Given the description of an element on the screen output the (x, y) to click on. 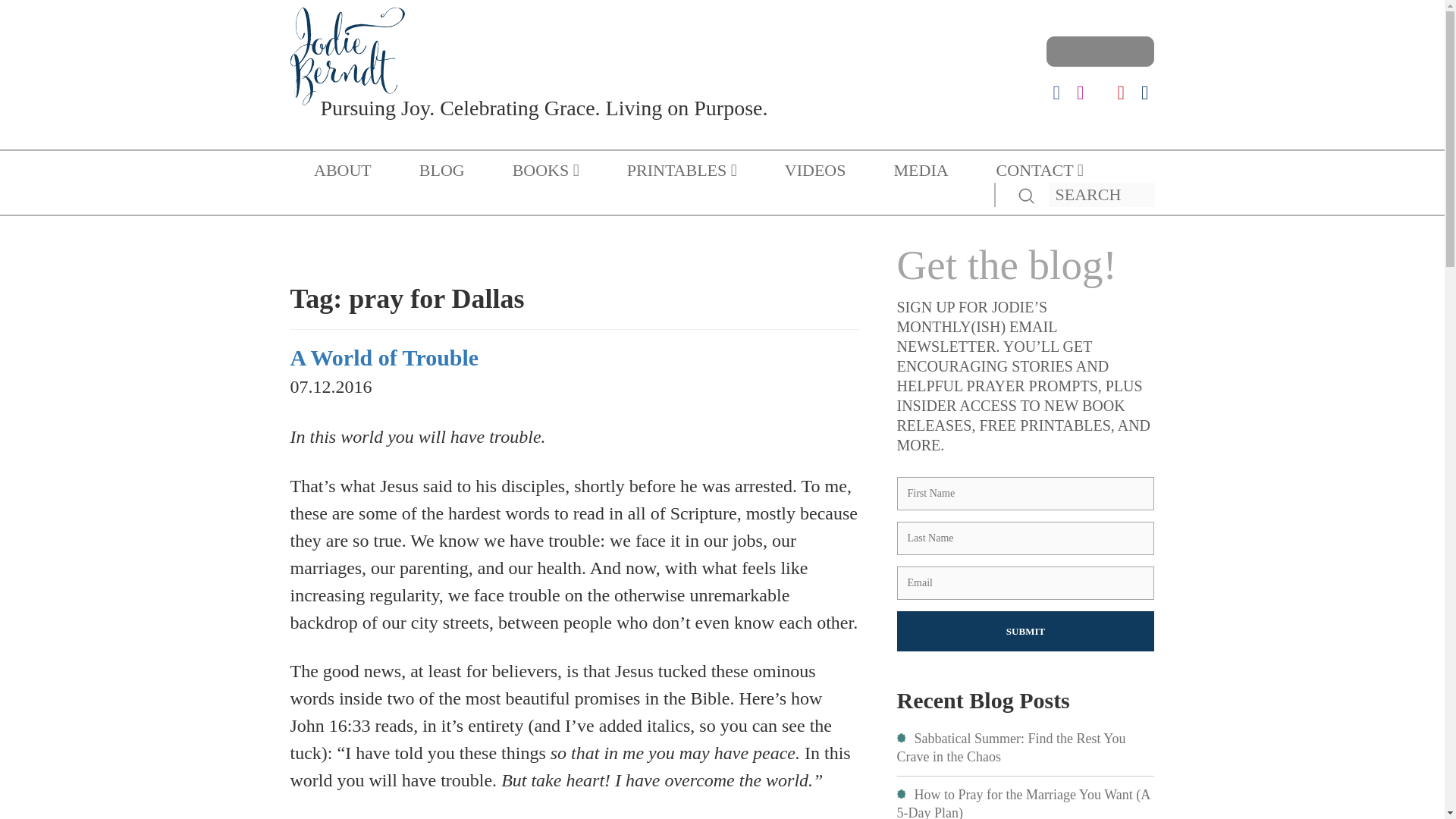
SUBMIT (1025, 630)
MEDIA (920, 170)
VIDEOS (814, 170)
PRINTABLES (681, 170)
BOOKS (545, 170)
BLOG (441, 170)
SUBSCRIBE (1100, 51)
CONTACT (1039, 170)
Sabbatical Summer: Find the Rest You Crave in the Chaos (1010, 747)
SUBMIT (1025, 630)
A World of Trouble (384, 357)
ABOUT (342, 170)
